Given the description of an element on the screen output the (x, y) to click on. 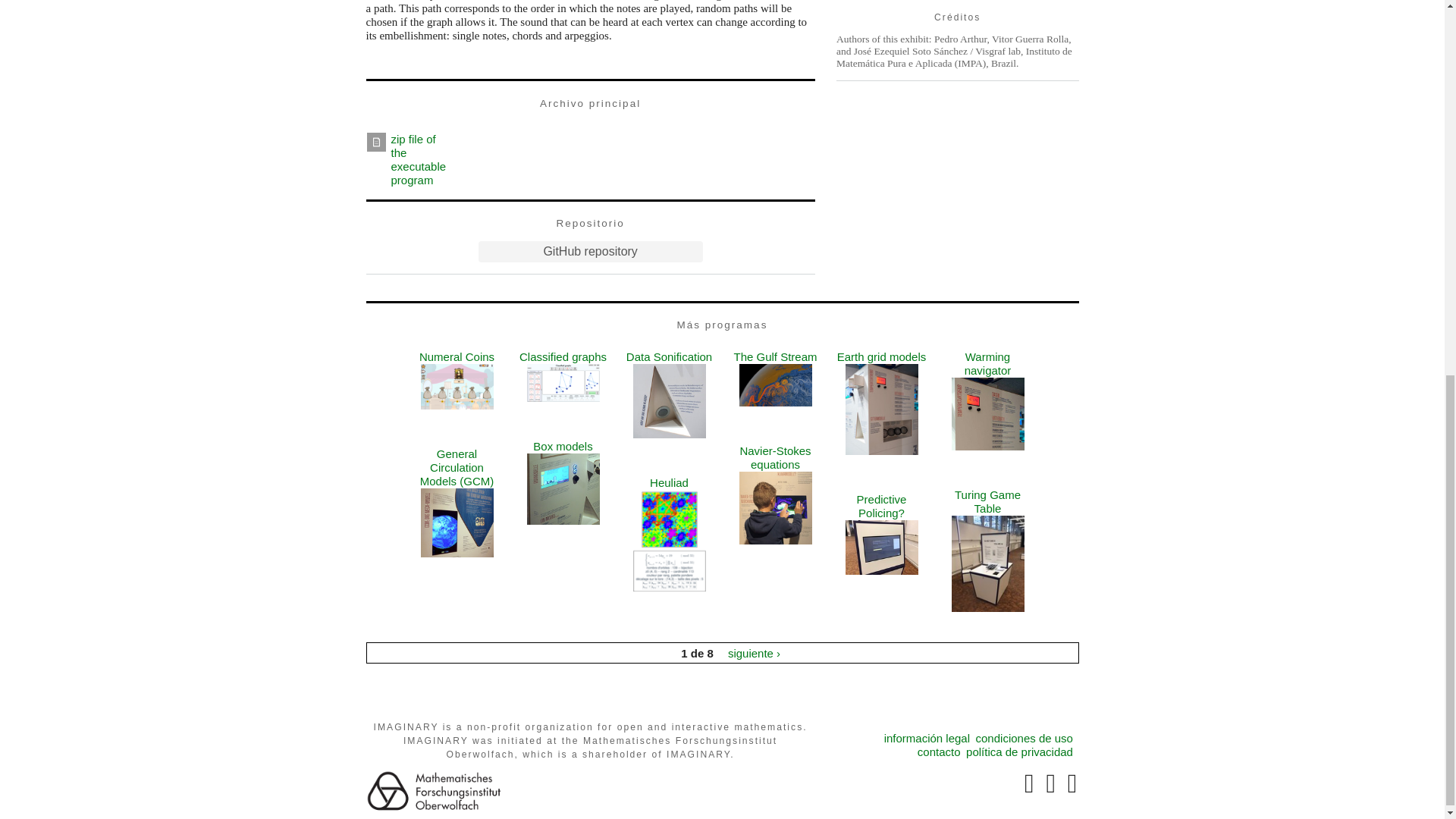
GitHub repository (591, 251)
zip file of the executable program (418, 159)
Numeral Coins (457, 356)
